Given the description of an element on the screen output the (x, y) to click on. 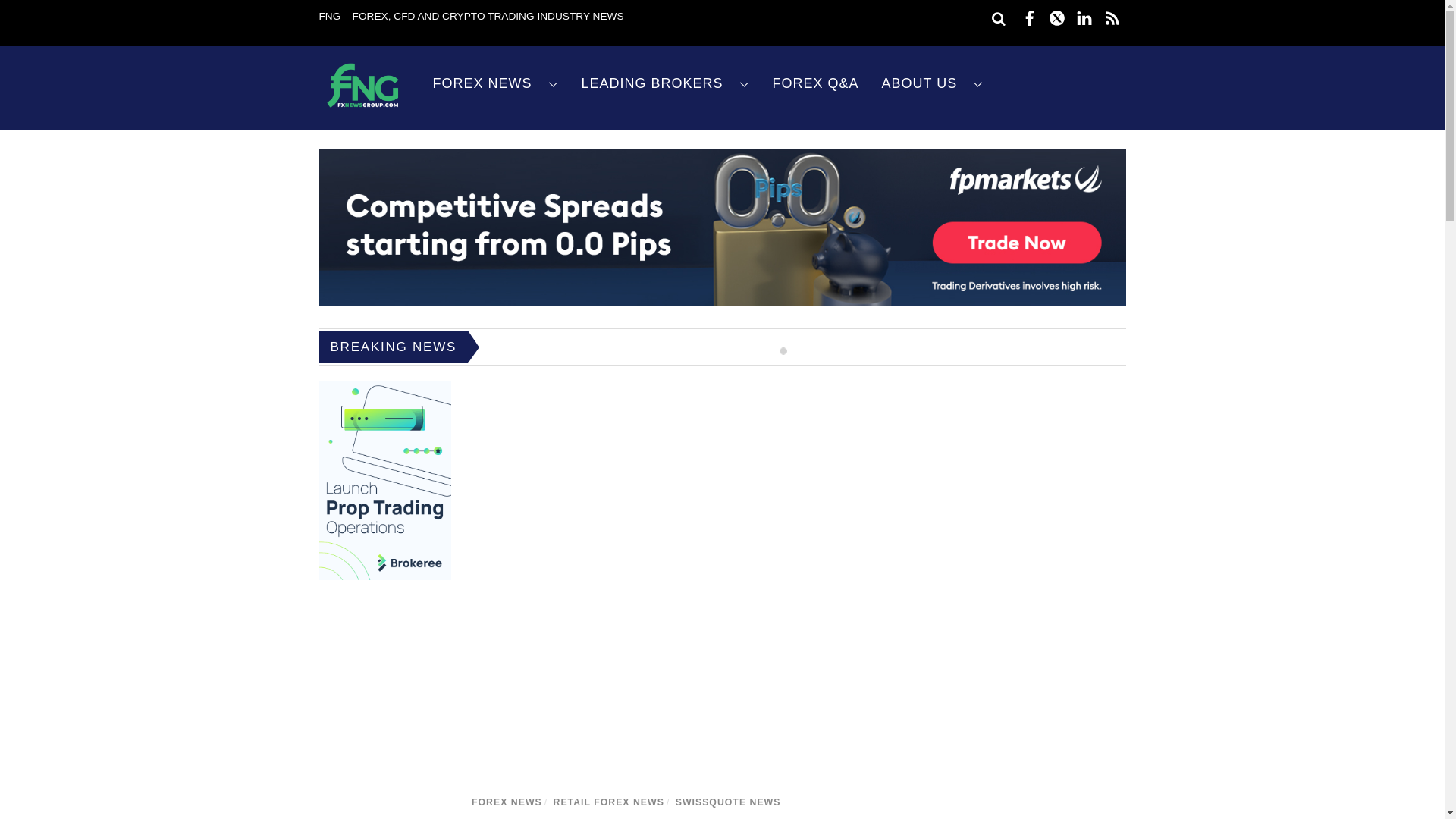
FX News Group (362, 108)
FOREX NEWS (496, 83)
LEADING BROKERS (665, 83)
